Given the description of an element on the screen output the (x, y) to click on. 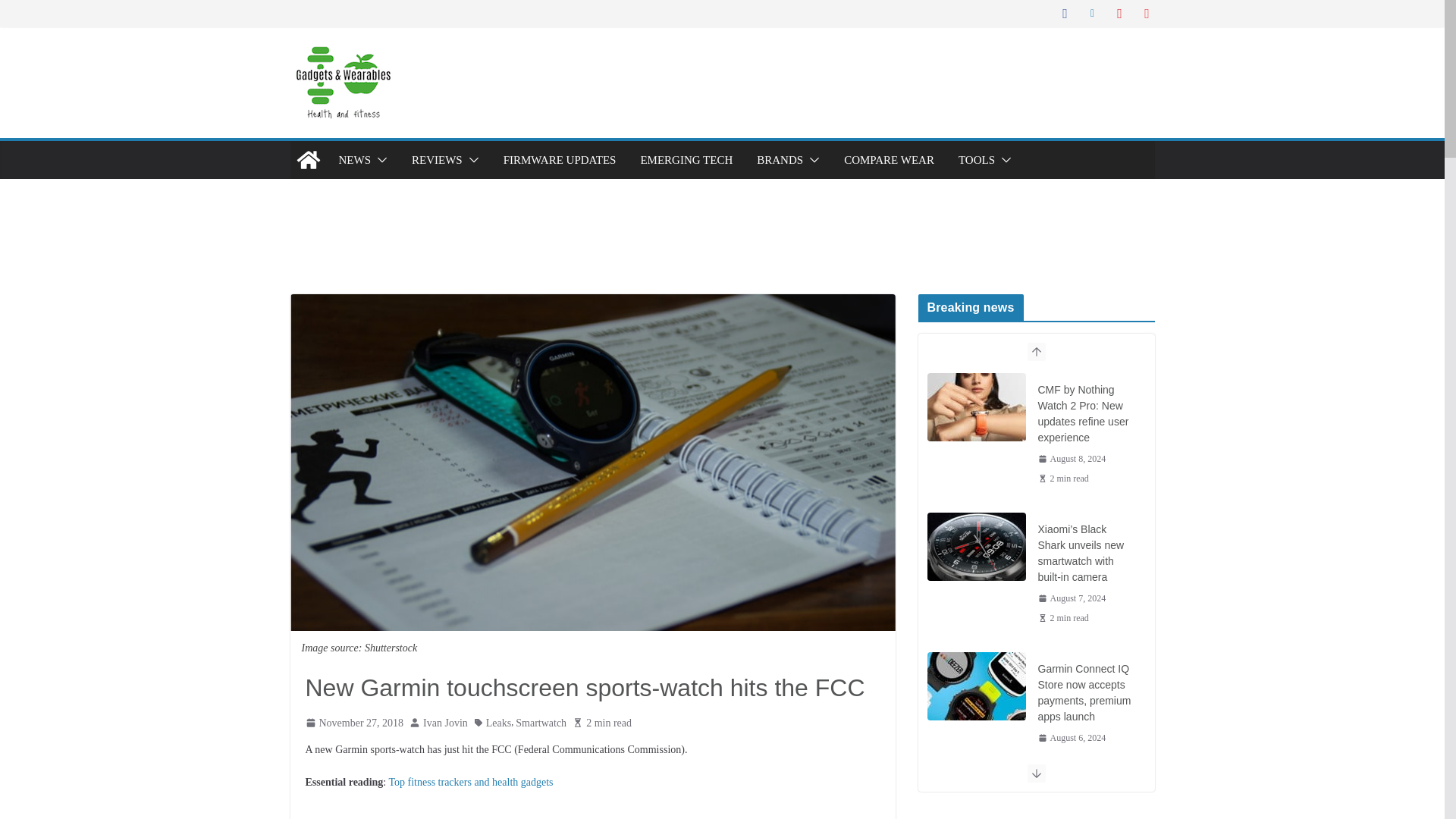
11:28 am (1070, 598)
12:48 am (353, 722)
Ivan Jovin (445, 722)
EMERGING TECH (686, 159)
NEWS (354, 159)
1:31 am (1070, 459)
FIRMWARE UPDATES (559, 159)
BRANDS (780, 159)
REVIEWS (437, 159)
